Given the description of an element on the screen output the (x, y) to click on. 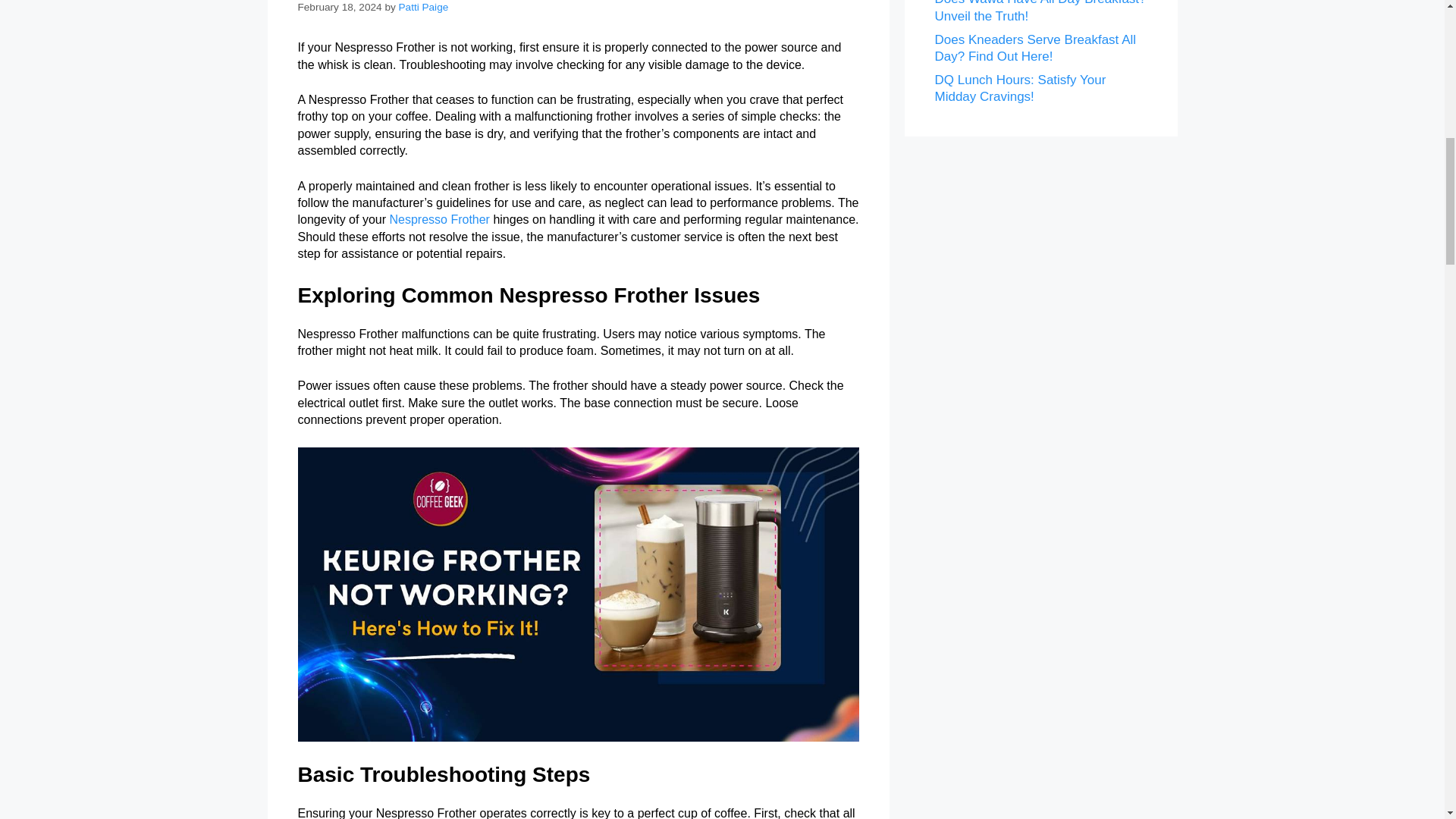
Patti Paige (423, 7)
View all posts by Patti Paige (423, 7)
Nespresso Frother (438, 219)
